Given the description of an element on the screen output the (x, y) to click on. 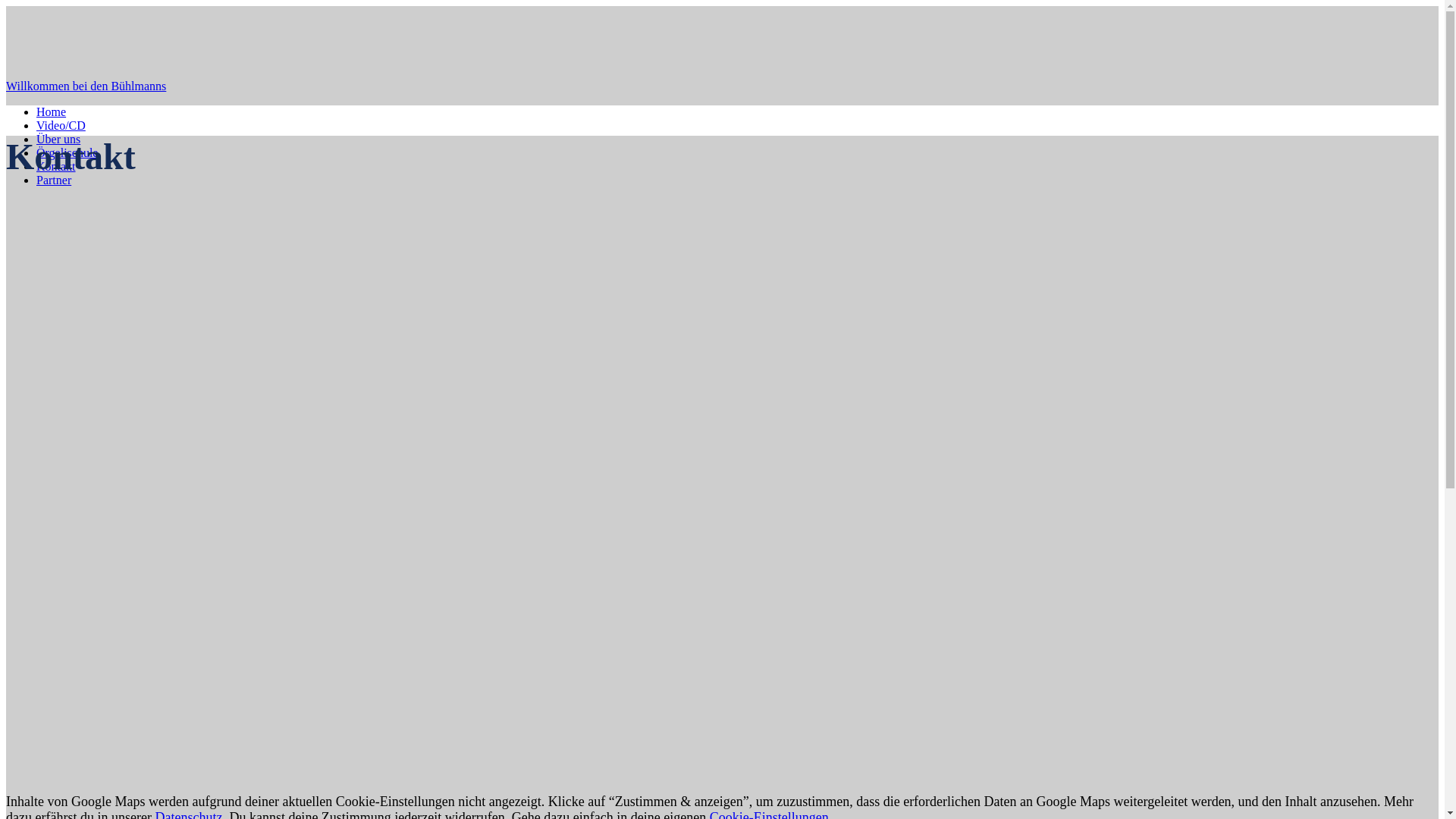
Partner Element type: text (53, 179)
Home Element type: text (50, 111)
Kontakt Element type: text (55, 166)
Video/CD Element type: text (60, 125)
